Given the description of an element on the screen output the (x, y) to click on. 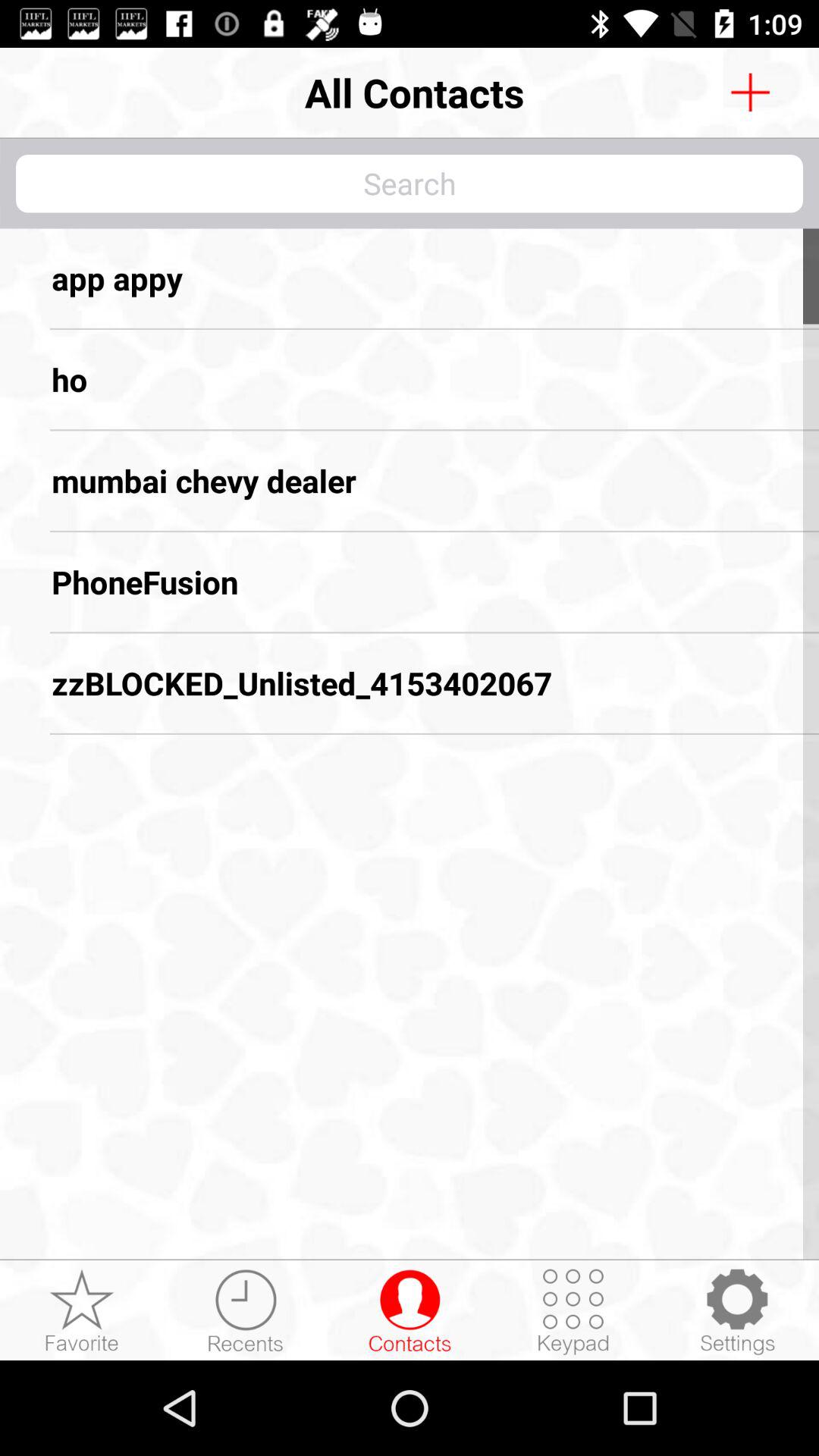
go to contacts (409, 1311)
